Given the description of an element on the screen output the (x, y) to click on. 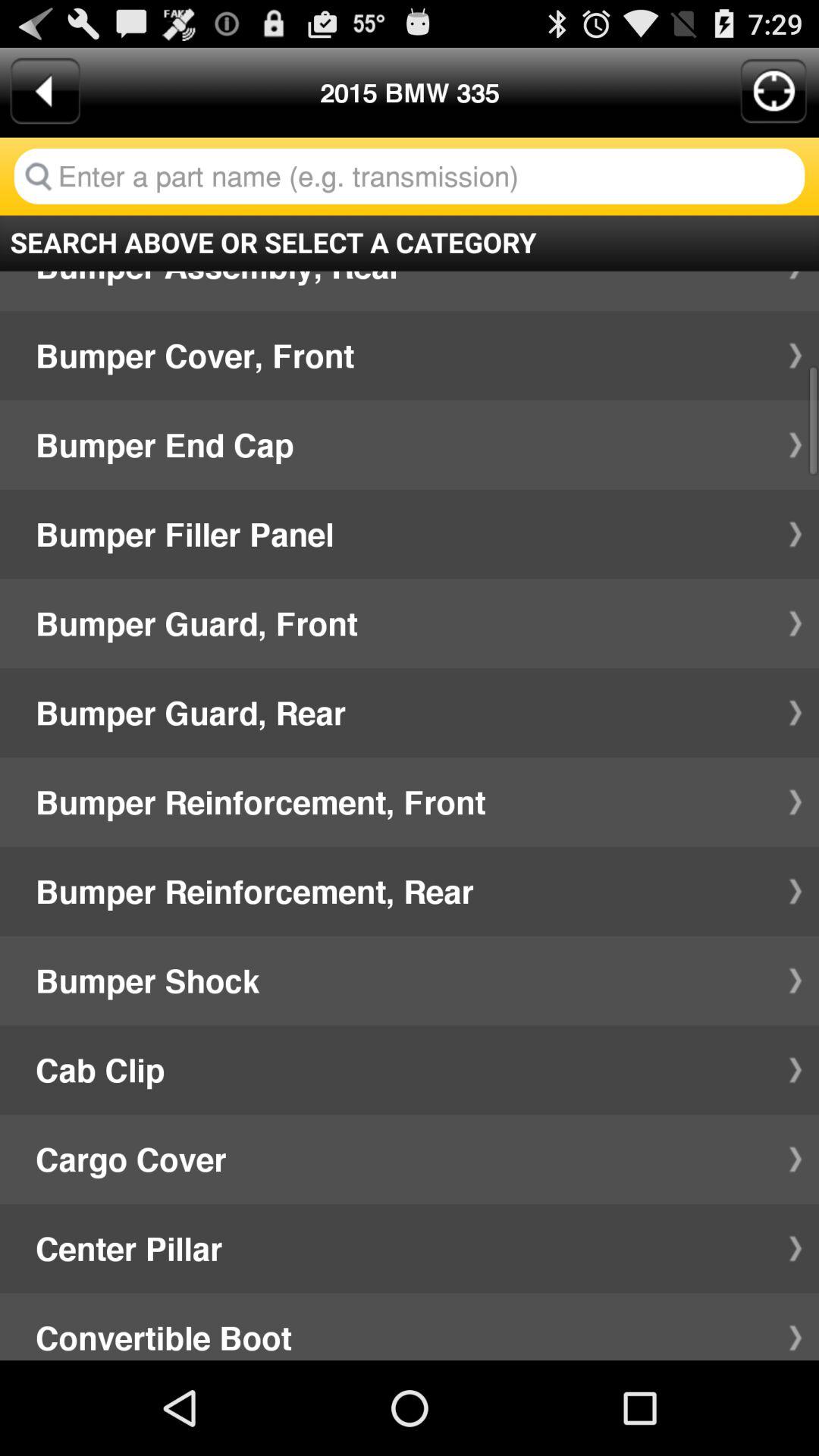
turn on the icon to the left of 2015 bmw 335 icon (45, 90)
